Given the description of an element on the screen output the (x, y) to click on. 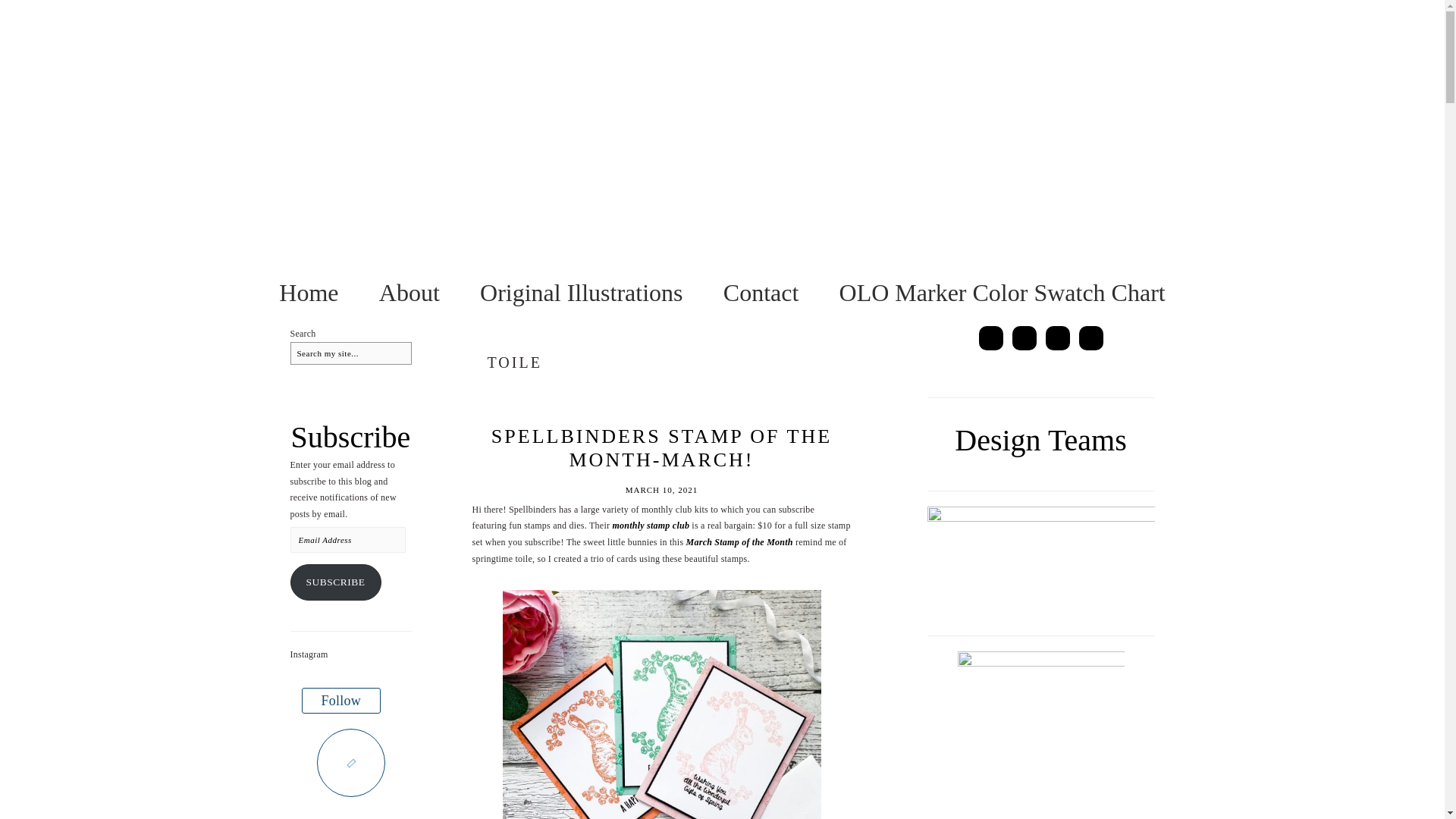
Contact (761, 292)
About (408, 292)
March Stamp of the Month (739, 542)
Home (308, 292)
OLO Marker Color Swatch Chart (1003, 292)
monthly stamp club (649, 525)
Original Illustrations (581, 292)
SPELLBINDERS STAMP OF THE MONTH-MARCH! (661, 447)
